Given the description of an element on the screen output the (x, y) to click on. 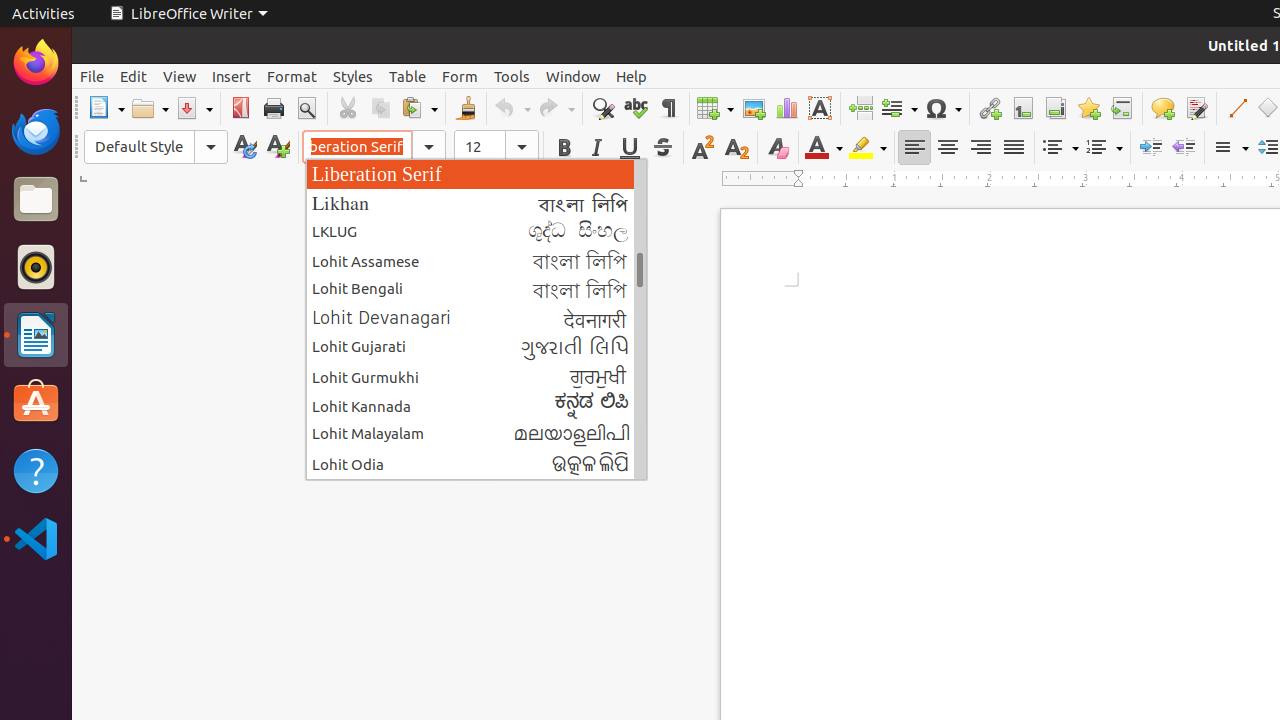
Hyperlink Element type: toggle-button (989, 108)
Right Element type: toggle-button (980, 147)
Save Element type: push-button (194, 108)
Lohit Bengali Element type: list-item (476, 289)
Line Spacing Element type: push-button (1230, 147)
